Given the description of an element on the screen output the (x, y) to click on. 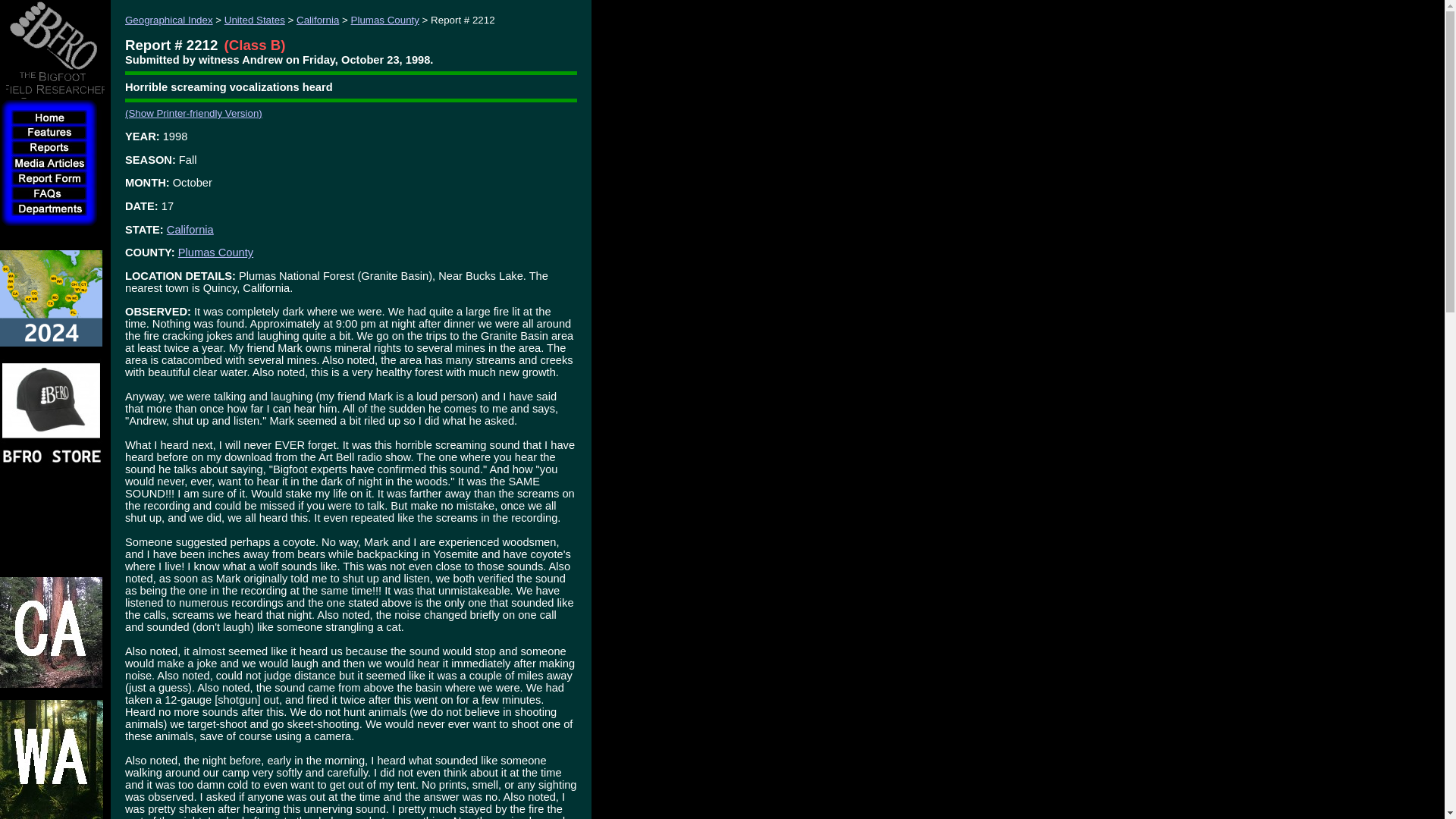
Geographical Index (168, 19)
California (318, 19)
Plumas County (384, 19)
California (190, 229)
Plumas County (215, 252)
United States (254, 19)
